Given the description of an element on the screen output the (x, y) to click on. 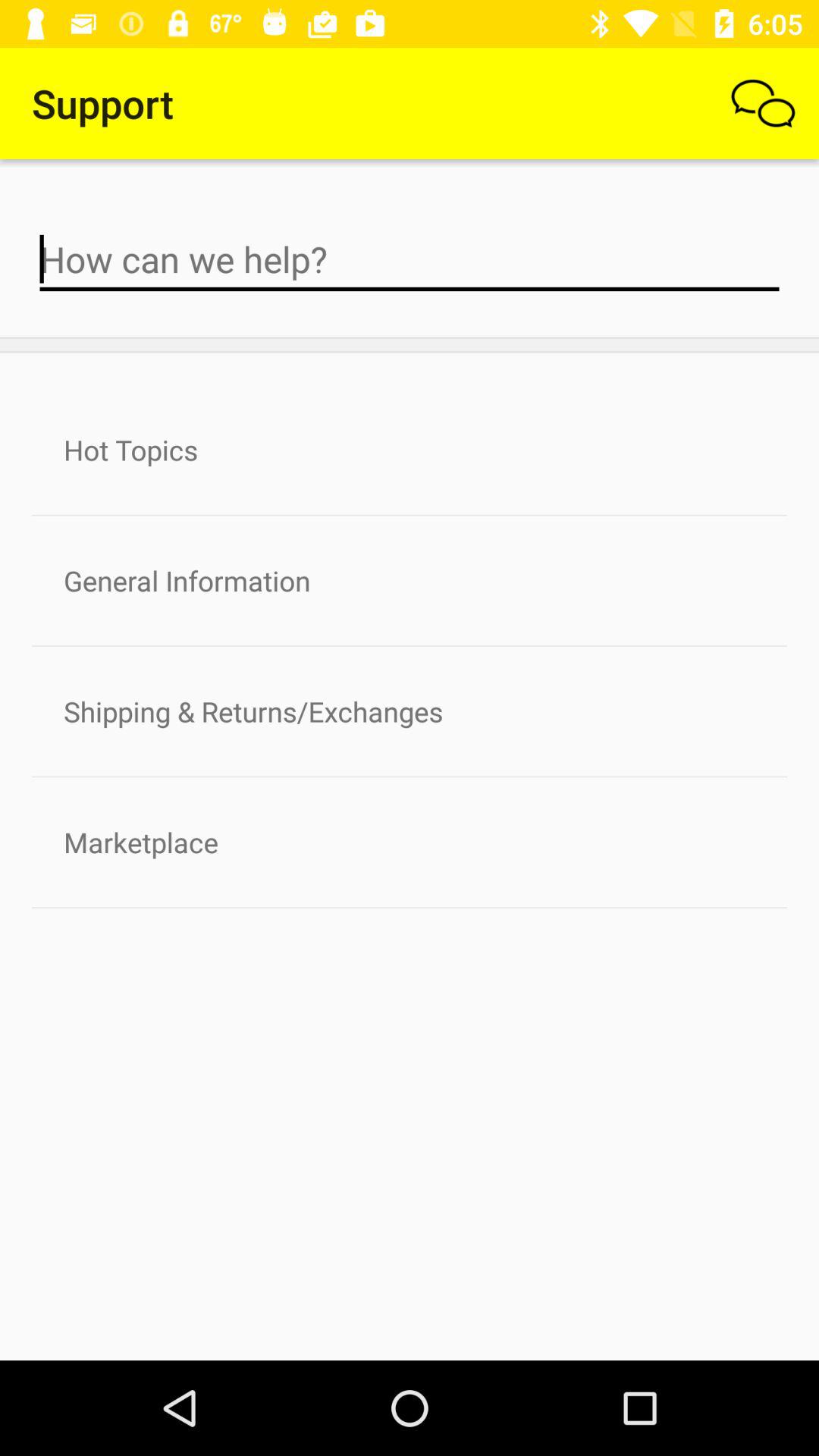
select the icon below general information icon (409, 711)
